Given the description of an element on the screen output the (x, y) to click on. 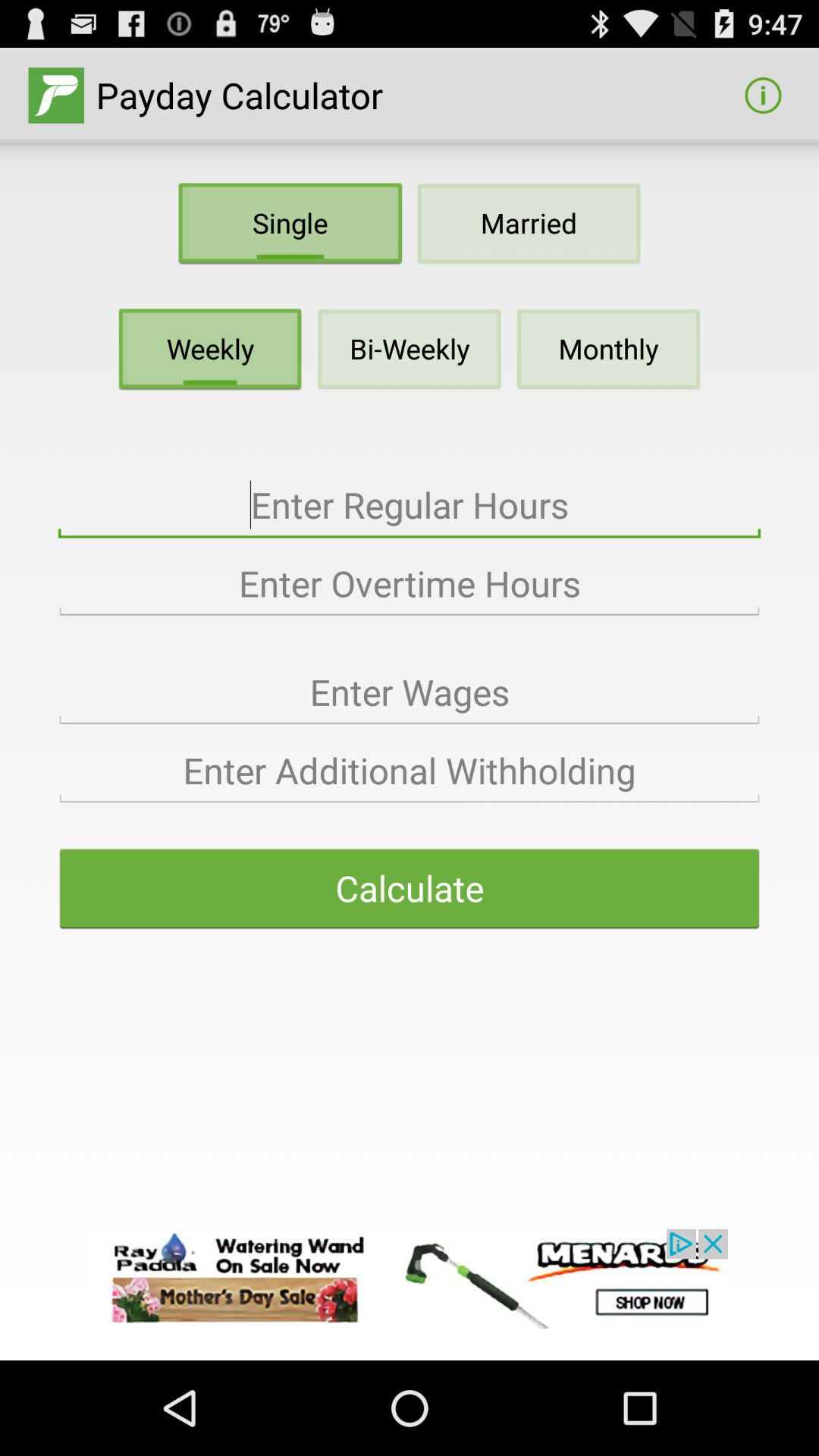
enter regular hours (409, 505)
